Given the description of an element on the screen output the (x, y) to click on. 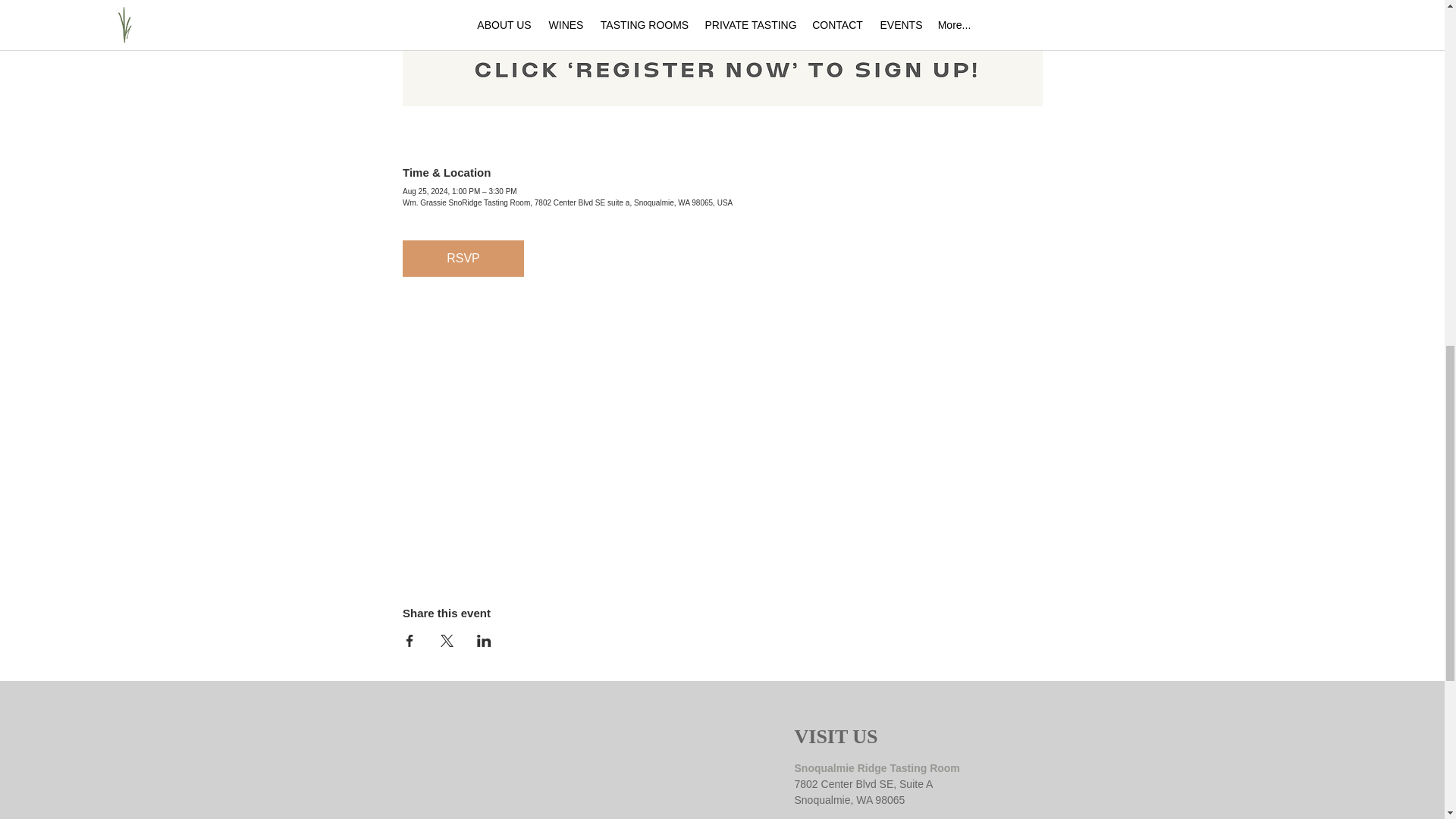
RSVP (463, 258)
